Given the description of an element on the screen output the (x, y) to click on. 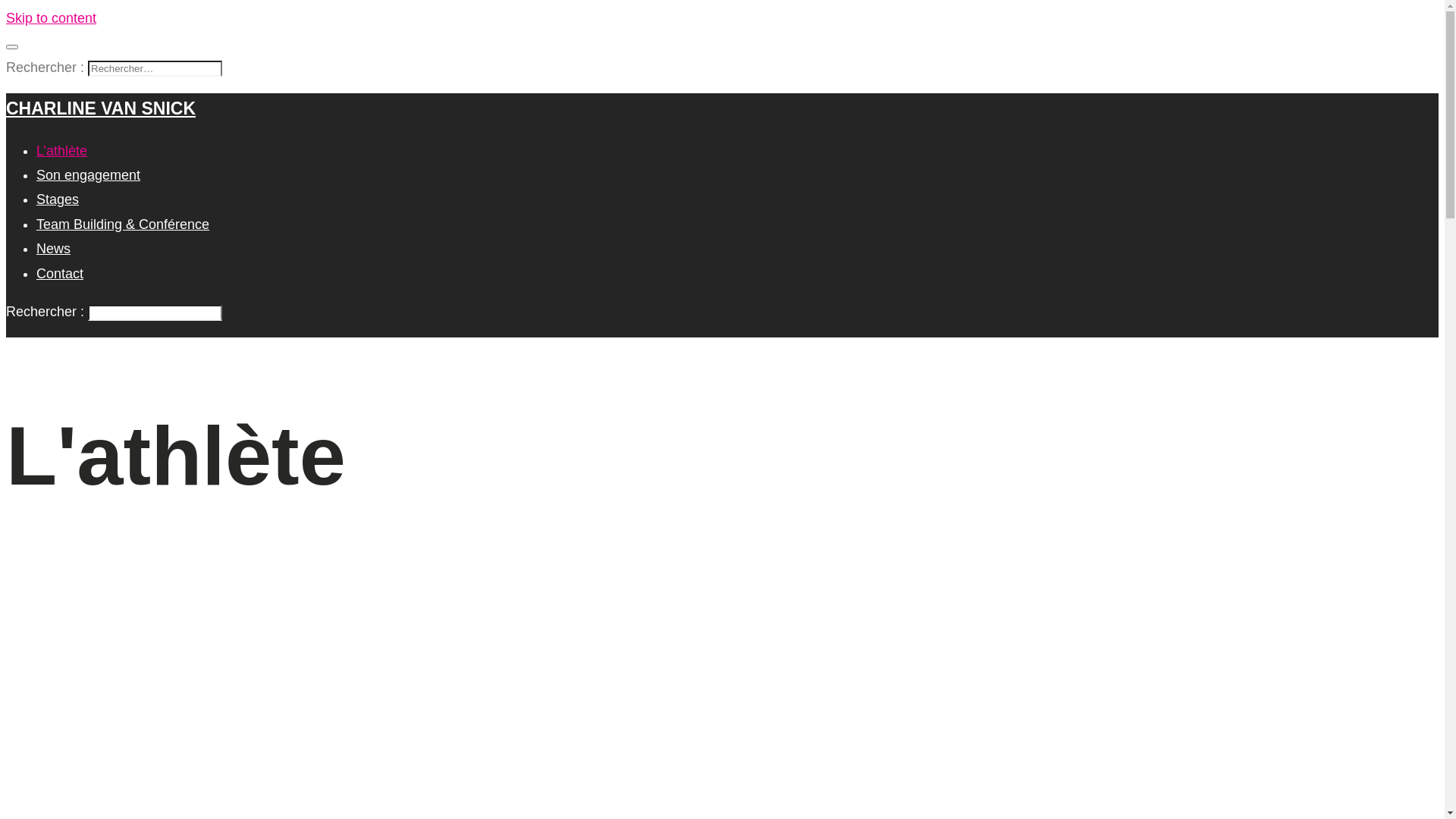
Son engagement Element type: text (88, 174)
CHARLINE VAN SNICK Element type: text (100, 108)
Stages Element type: text (57, 199)
Contact Element type: text (59, 273)
News Element type: text (53, 248)
Skip to content Element type: text (51, 17)
